Given the description of an element on the screen output the (x, y) to click on. 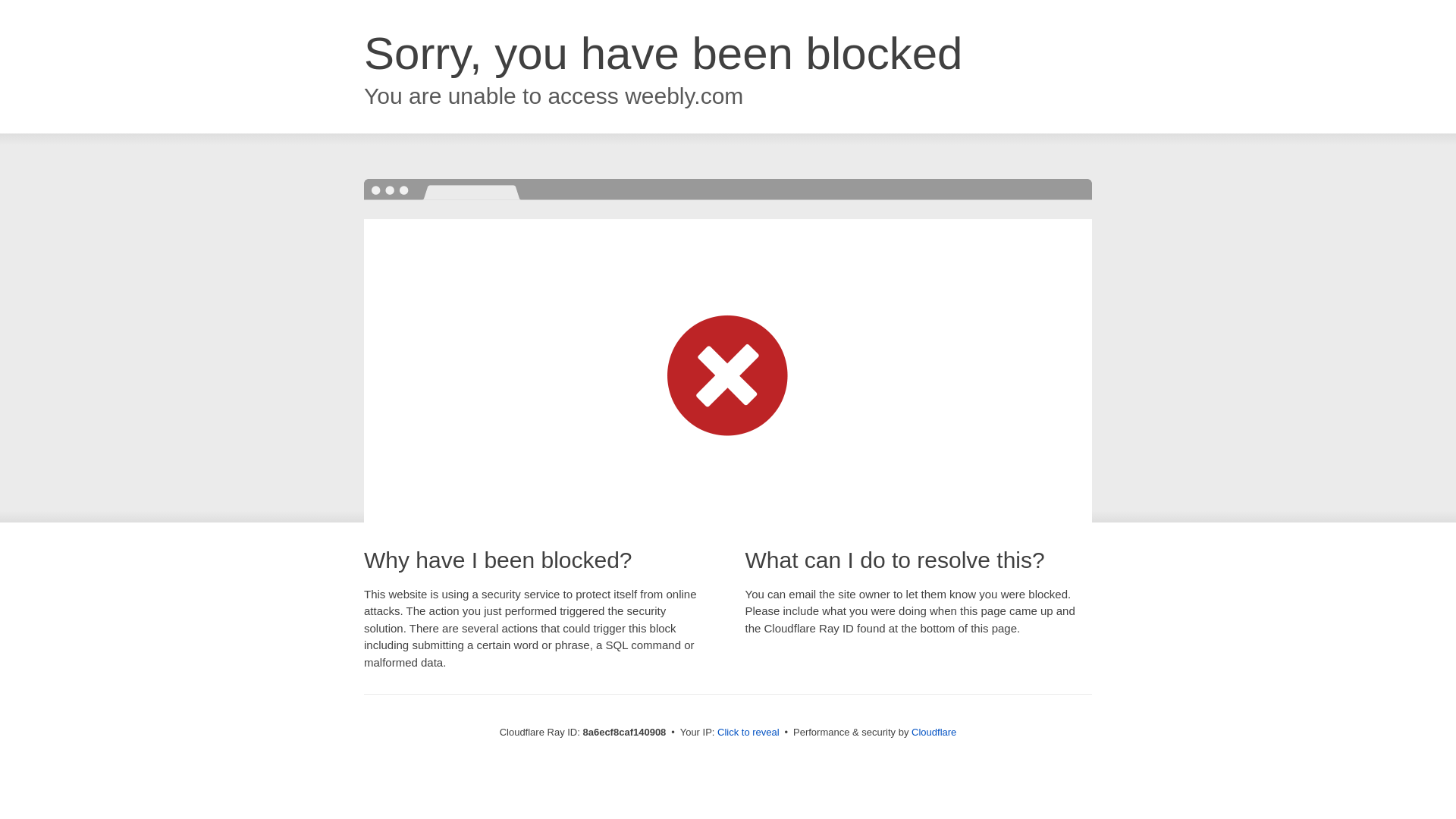
Click to reveal (747, 732)
Cloudflare (933, 731)
